Given the description of an element on the screen output the (x, y) to click on. 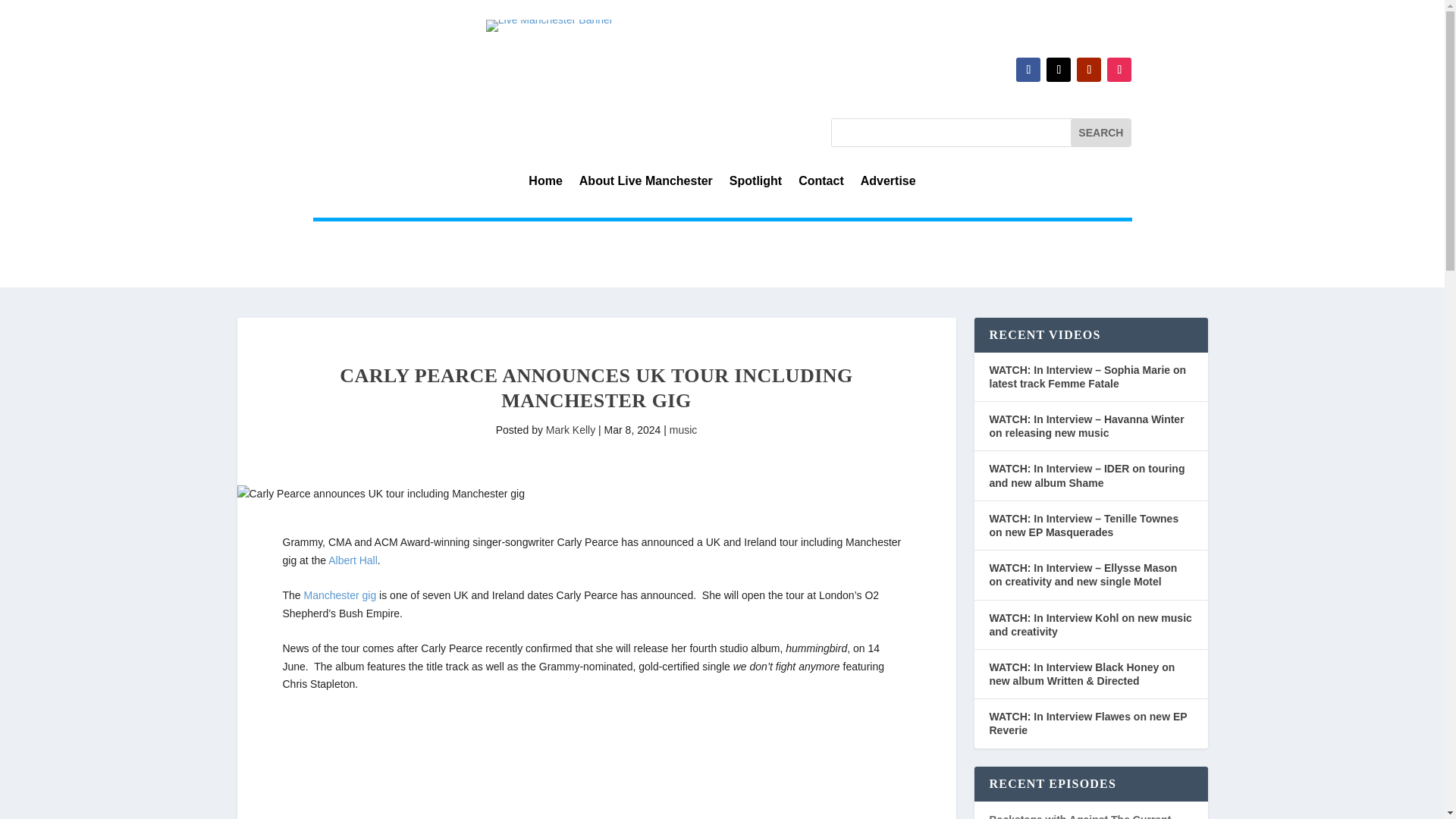
Follow on Youtube (1088, 69)
Manchester gig (340, 594)
Follow on Instagram (1118, 69)
Search (1100, 132)
Home (545, 184)
music (683, 429)
Search (1100, 132)
Follow on Facebook (1028, 69)
Posts by Mark Kelly (570, 429)
About Live Manchester (646, 184)
